Given the description of an element on the screen output the (x, y) to click on. 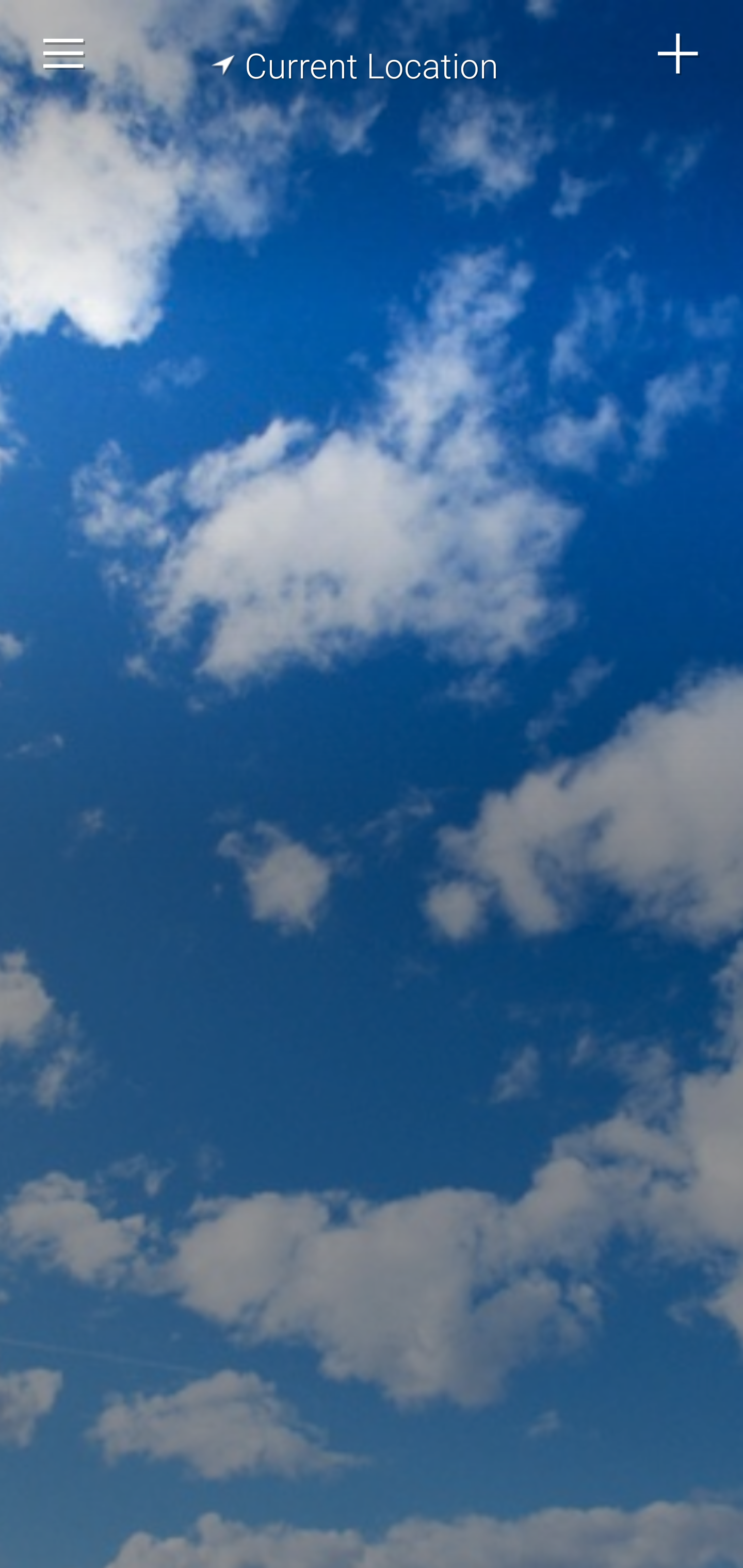
Sidebar (64, 54)
Add City (678, 53)
